Given the description of an element on the screen output the (x, y) to click on. 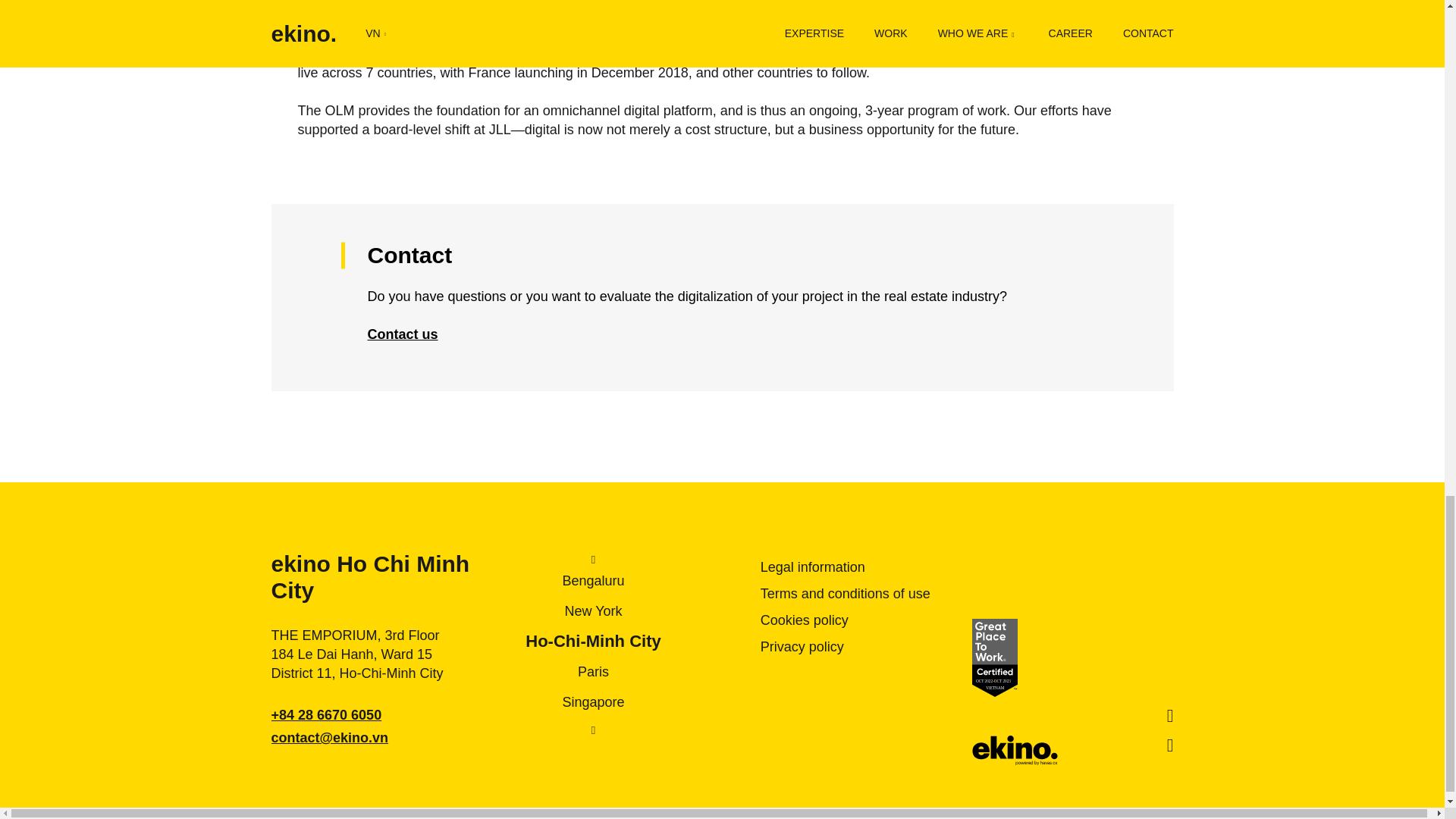
Contact us (389, 334)
